Given the description of an element on the screen output the (x, y) to click on. 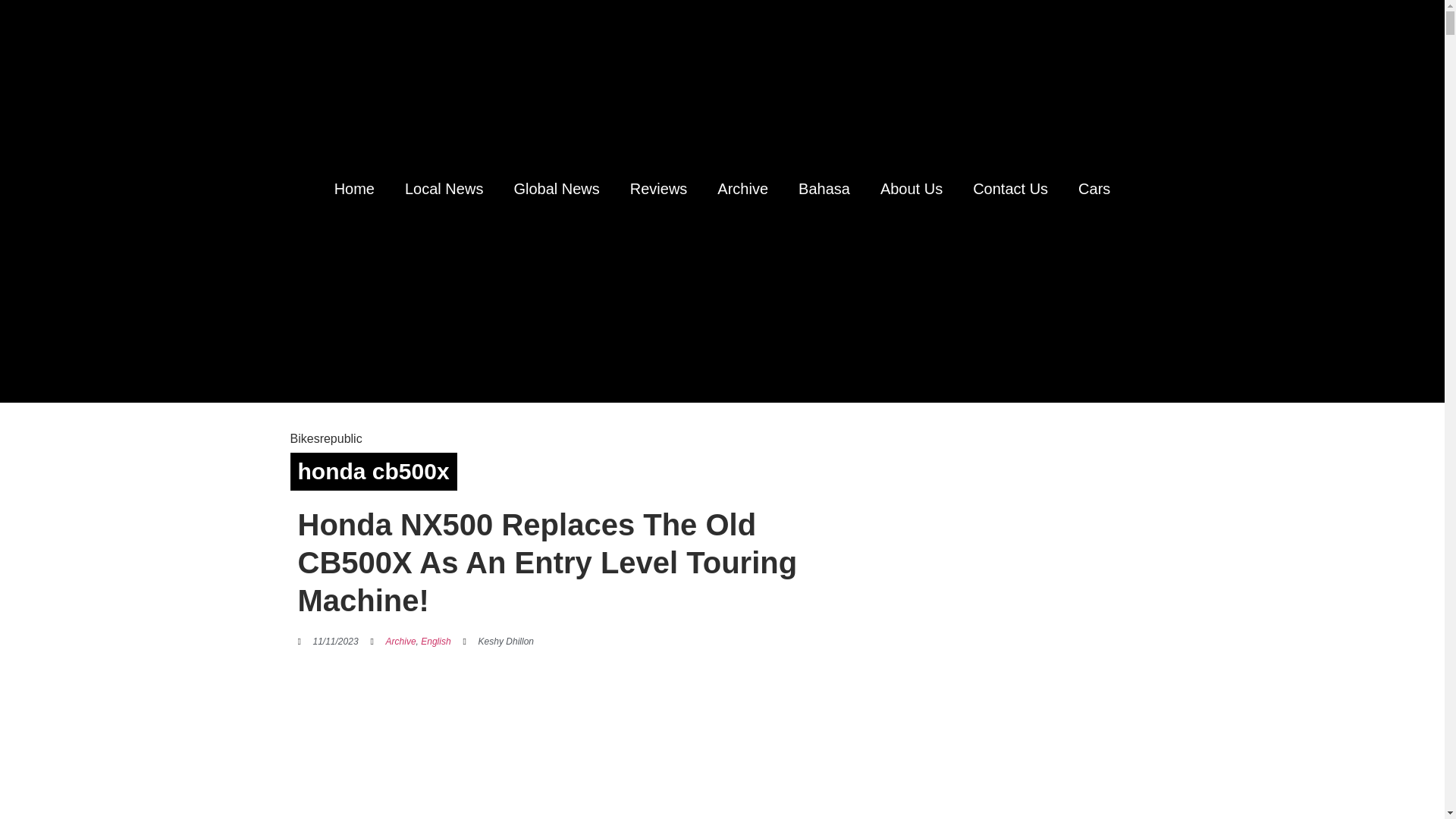
English (434, 641)
Bahasa (823, 188)
About Us (911, 188)
Keshy Dhillon (498, 641)
Contact Us (1010, 188)
Global News (555, 188)
Archive (400, 641)
Reviews (658, 188)
Archive (742, 188)
Home (354, 188)
Local News (443, 188)
Cars (1093, 188)
